Given the description of an element on the screen output the (x, y) to click on. 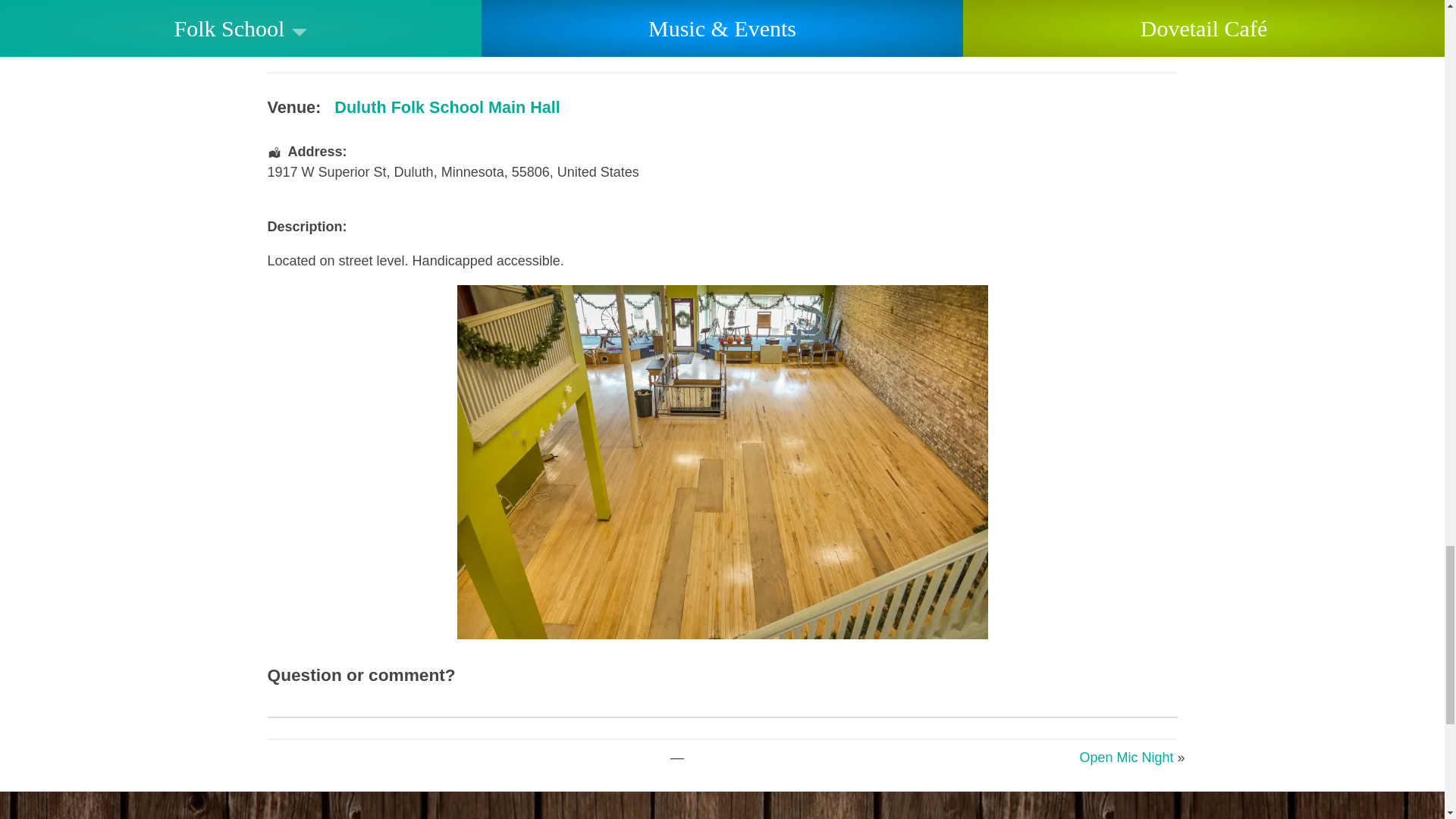
Click here to view more info about Theresa Hornstein (322, 47)
